Given the description of an element on the screen output the (x, y) to click on. 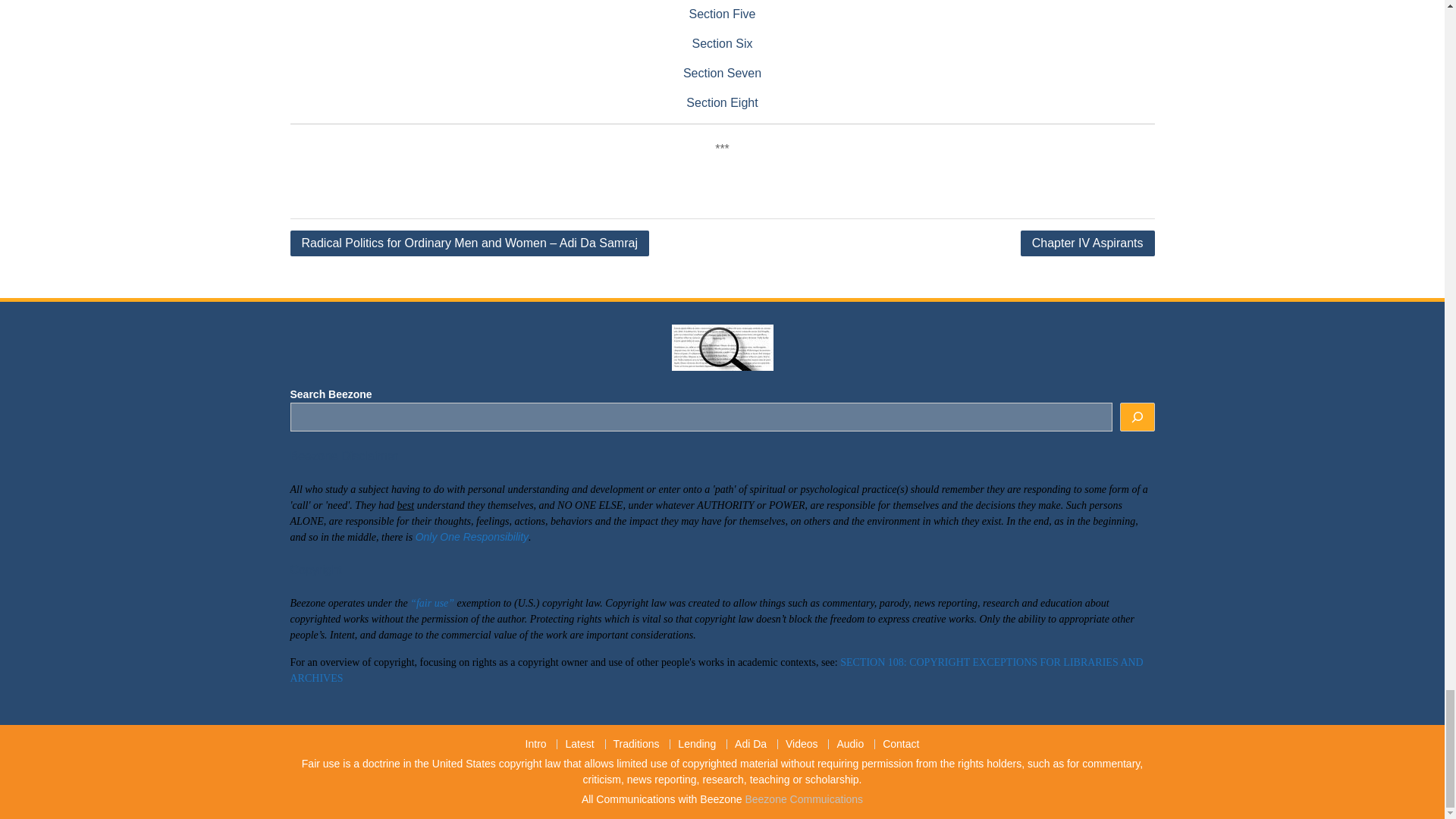
Section Eight (721, 102)
Videos (801, 744)
Latest (578, 744)
Chapter IV Aspirants (1087, 243)
Lending (696, 744)
Beezone Commuications (803, 799)
Contact (900, 744)
Section Seven (721, 72)
SECTION 108: COPYRIGHT EXCEPTIONS FOR LIBRARIES AND ARCHIVES (715, 669)
Audio (849, 744)
Intro (536, 744)
Section Six (721, 42)
Section Five (721, 13)
Traditions (635, 744)
Adi Da (750, 744)
